Given the description of an element on the screen output the (x, y) to click on. 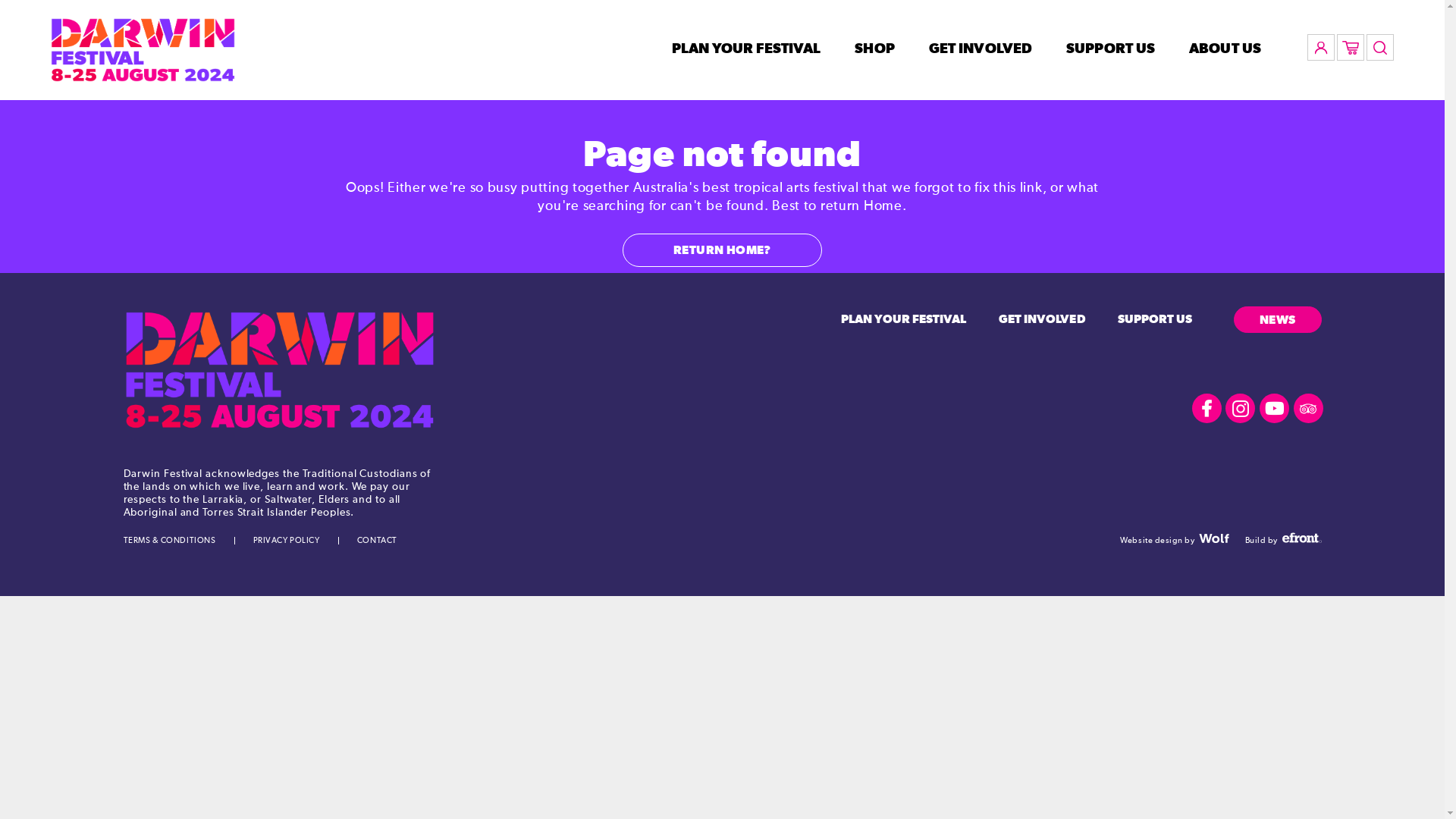
NEWS Element type: text (1277, 319)
ABOUT US Element type: text (1224, 47)
SHOP Element type: text (874, 47)
TERMS & CONDITIONS Element type: text (168, 540)
CONTACT Element type: text (377, 540)
PLAN YOUR FESTIVAL Element type: text (746, 47)
PRIVACY POLICY Element type: text (286, 540)
GET INVOLVED Element type: text (1041, 318)
Register Element type: text (509, 314)
SUPPORT US Element type: text (1154, 318)
RETURN HOME? Element type: text (722, 250)
SUPPORT US Element type: text (1110, 47)
PLAN YOUR FESTIVAL Element type: text (903, 318)
GET INVOLVED Element type: text (980, 47)
